Given the description of an element on the screen output the (x, y) to click on. 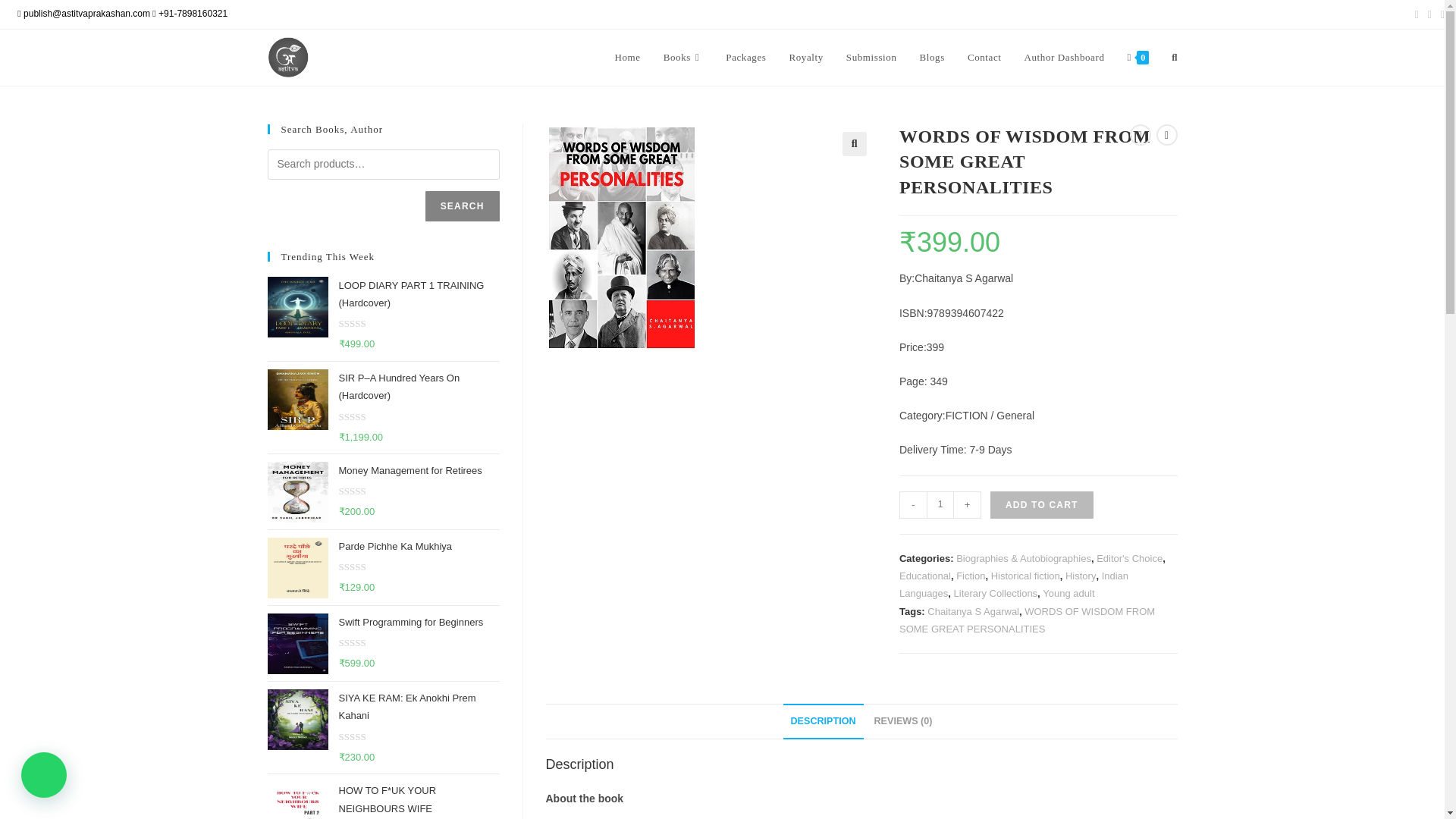
Books (683, 57)
1 (939, 504)
